Given the description of an element on the screen output the (x, y) to click on. 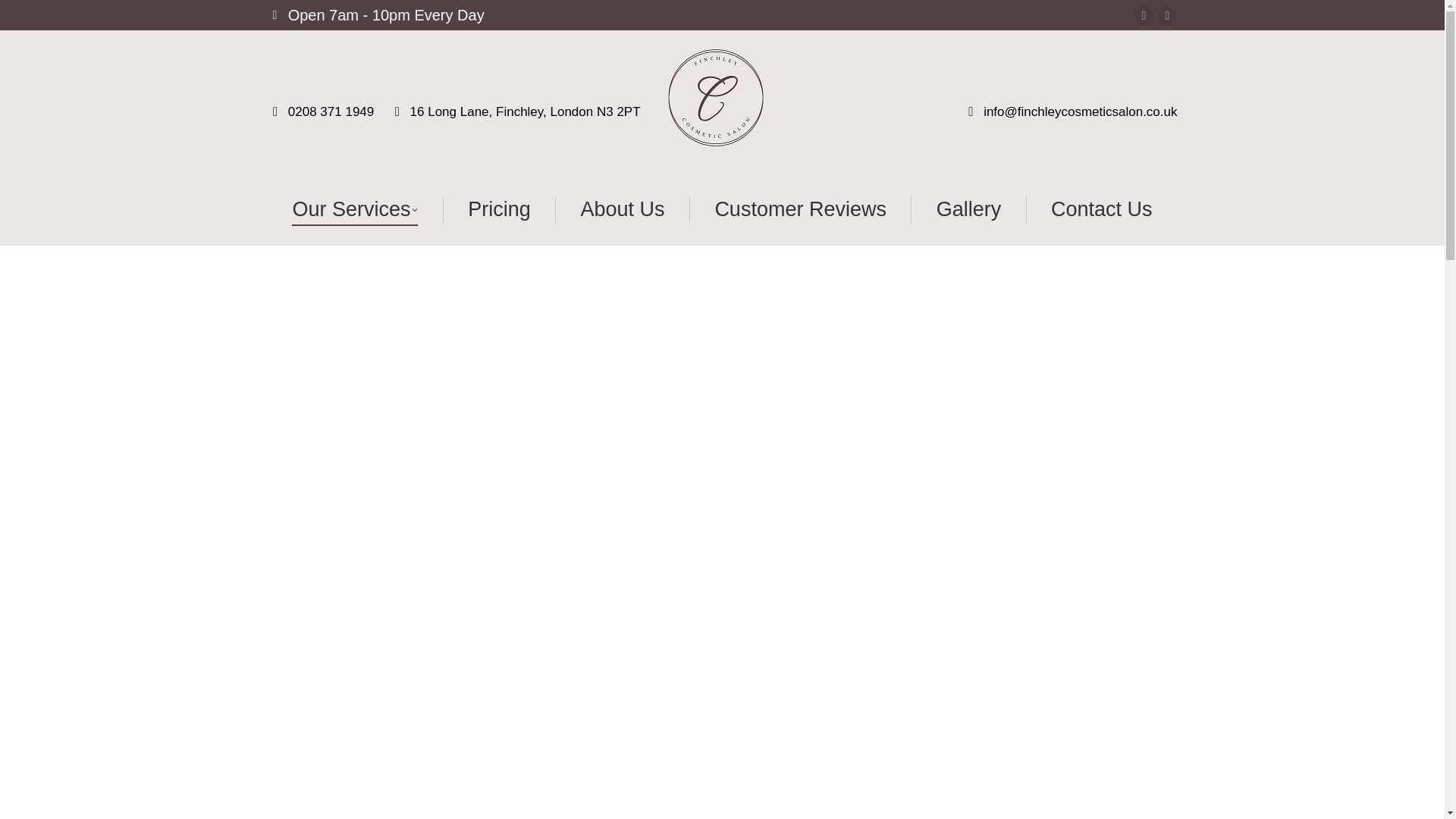
0208 371 1949 (320, 110)
Facebook page opens in new window (1144, 15)
Instagram page opens in new window (1167, 15)
Our Services (355, 209)
Instagram page opens in new window (1167, 15)
Facebook page opens in new window (1144, 15)
